Given the description of an element on the screen output the (x, y) to click on. 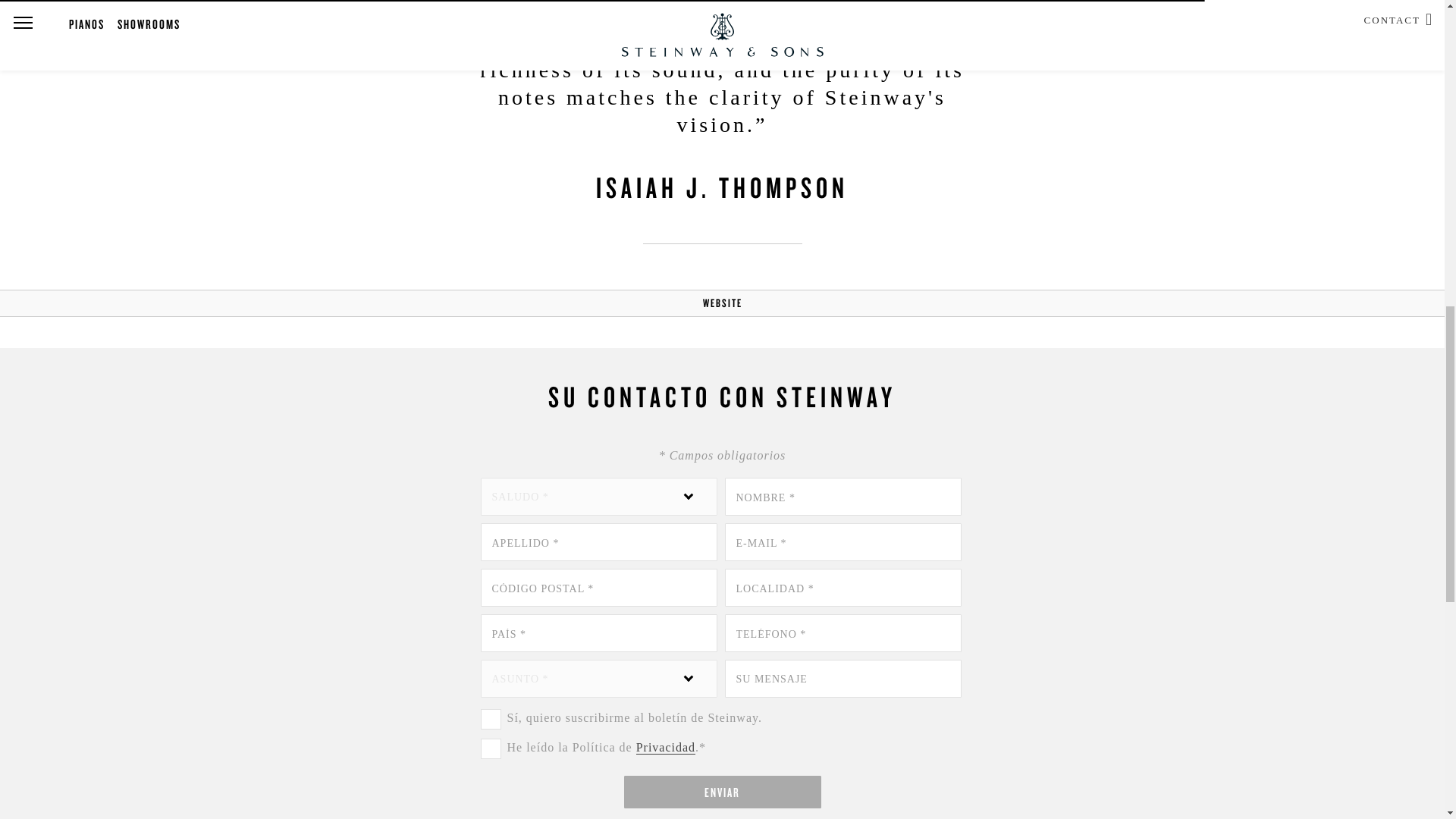
WEBSITE (721, 302)
ENVIAR (722, 791)
Privacidad (665, 747)
Opens internal link in current window (665, 747)
